Given the description of an element on the screen output the (x, y) to click on. 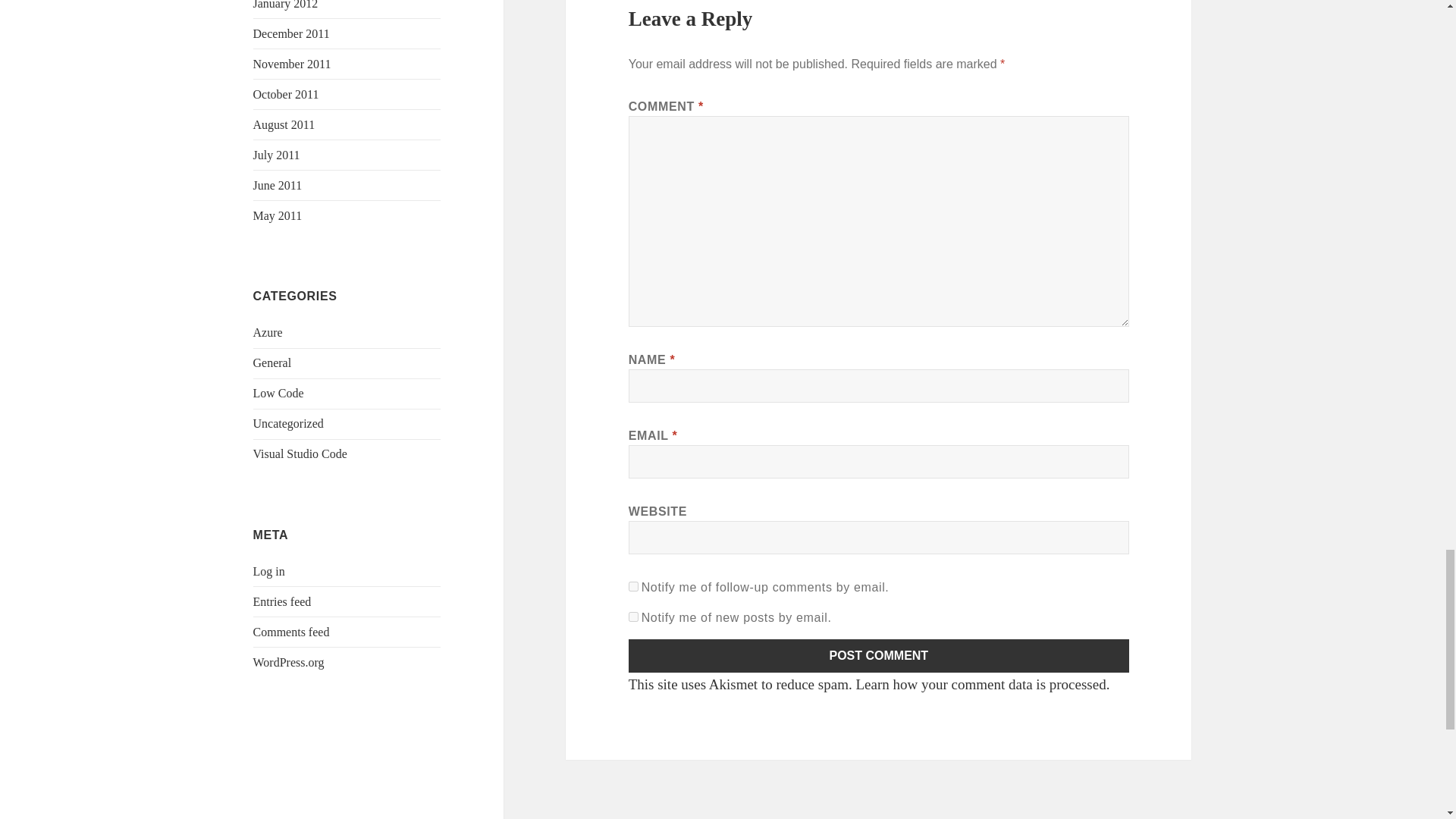
Post Comment (878, 684)
subscribe (633, 644)
subscribe (633, 614)
